Given the description of an element on the screen output the (x, y) to click on. 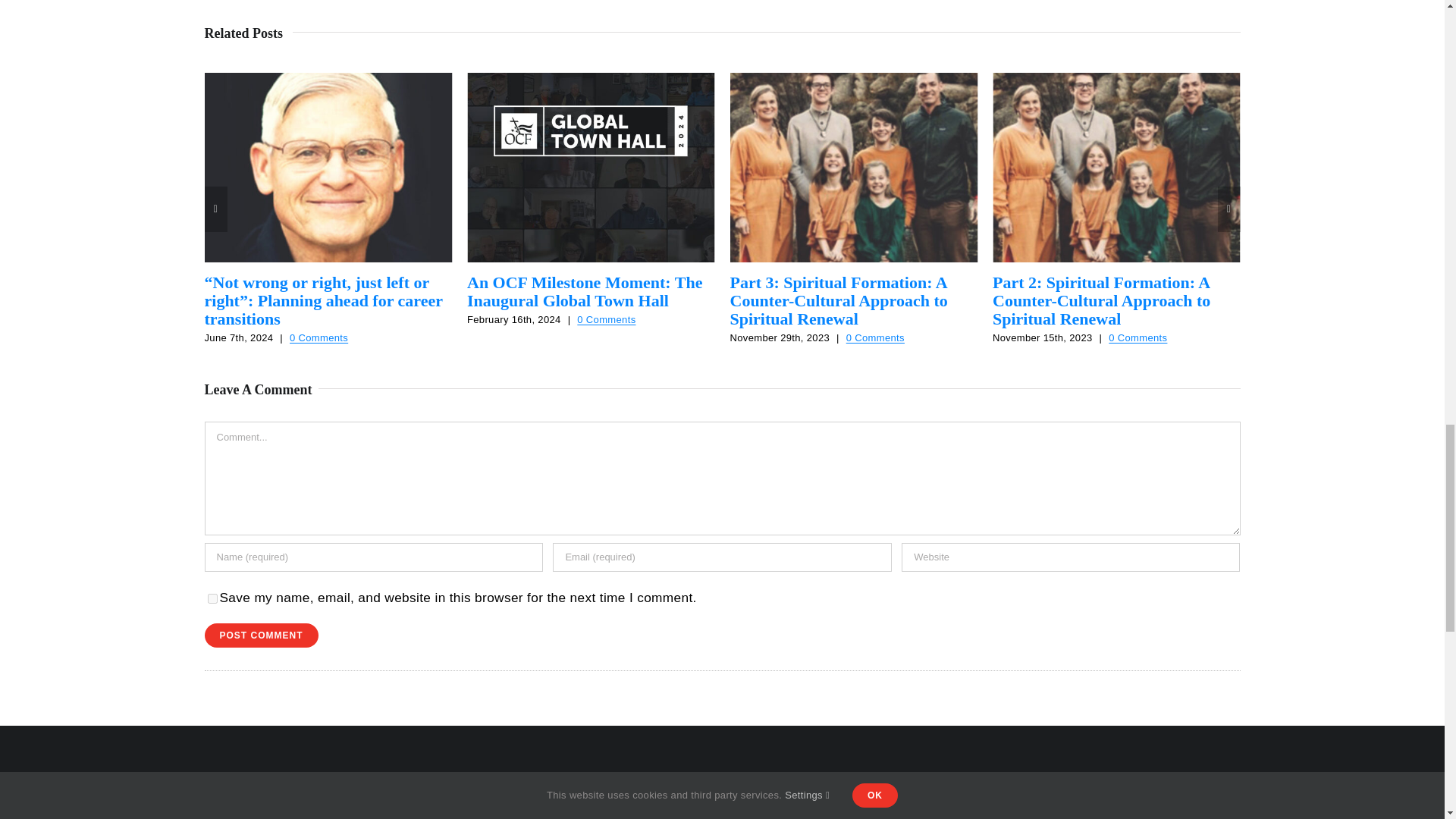
Post Comment (261, 635)
yes (212, 598)
